Given the description of an element on the screen output the (x, y) to click on. 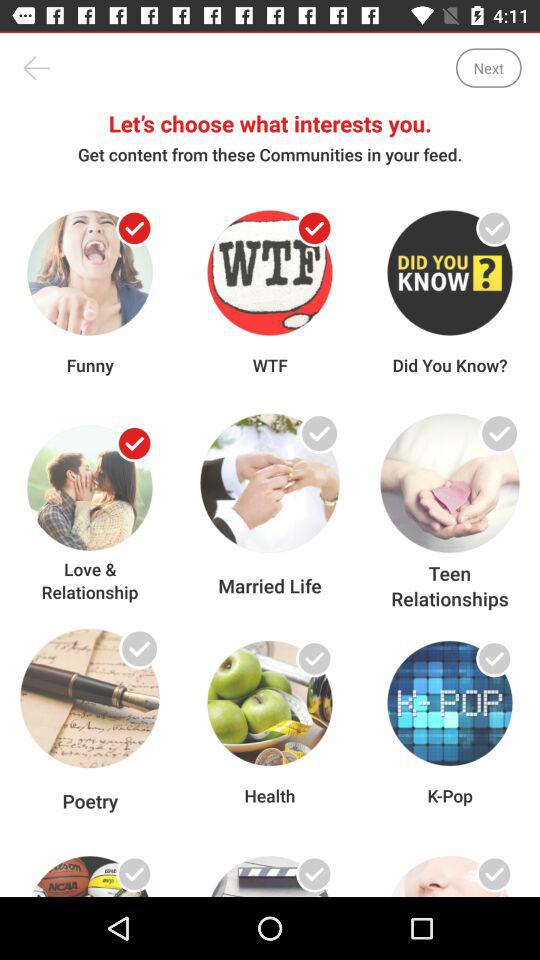
select item (134, 228)
